Given the description of an element on the screen output the (x, y) to click on. 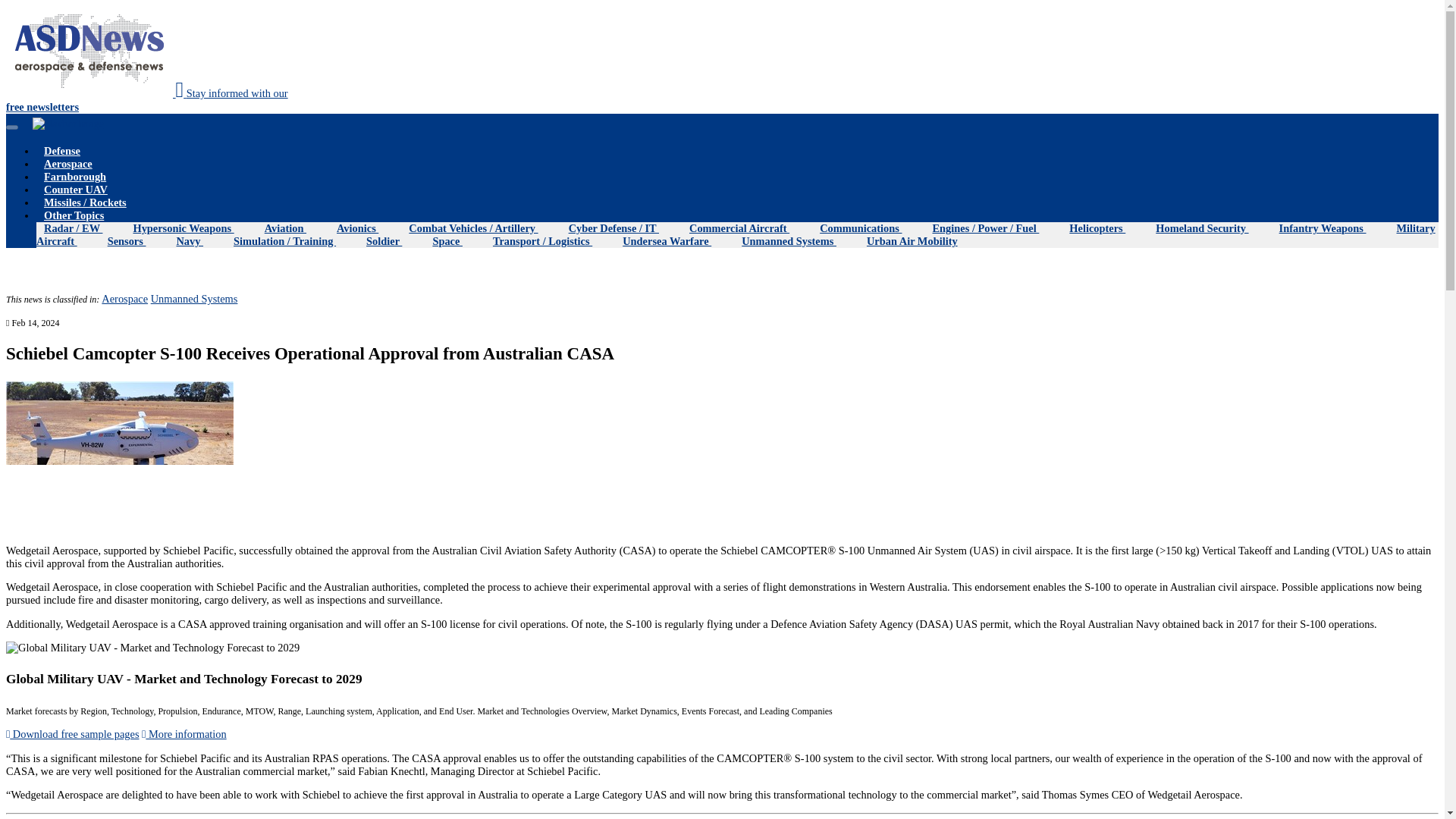
Aerospace (124, 298)
Unmanned Systems (796, 241)
Defense (69, 150)
Soldier (391, 241)
Navy (196, 241)
Undersea Warfare (146, 99)
Download free sample pages (673, 241)
Counter UAV (72, 734)
Sensors (83, 189)
